Given the description of an element on the screen output the (x, y) to click on. 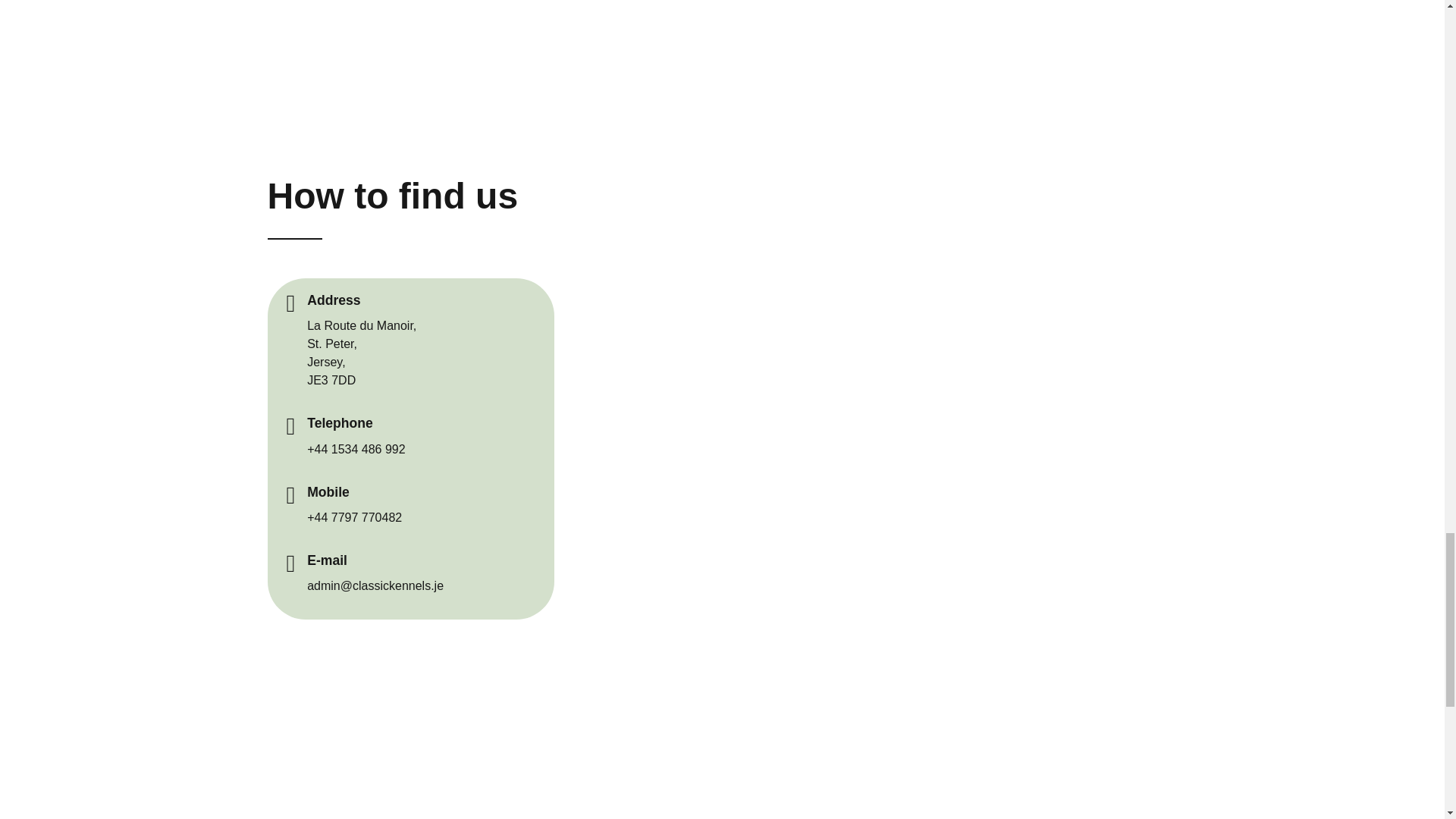
E-mail (327, 560)
Mobile (328, 491)
Telephone (339, 422)
